Given the description of an element on the screen output the (x, y) to click on. 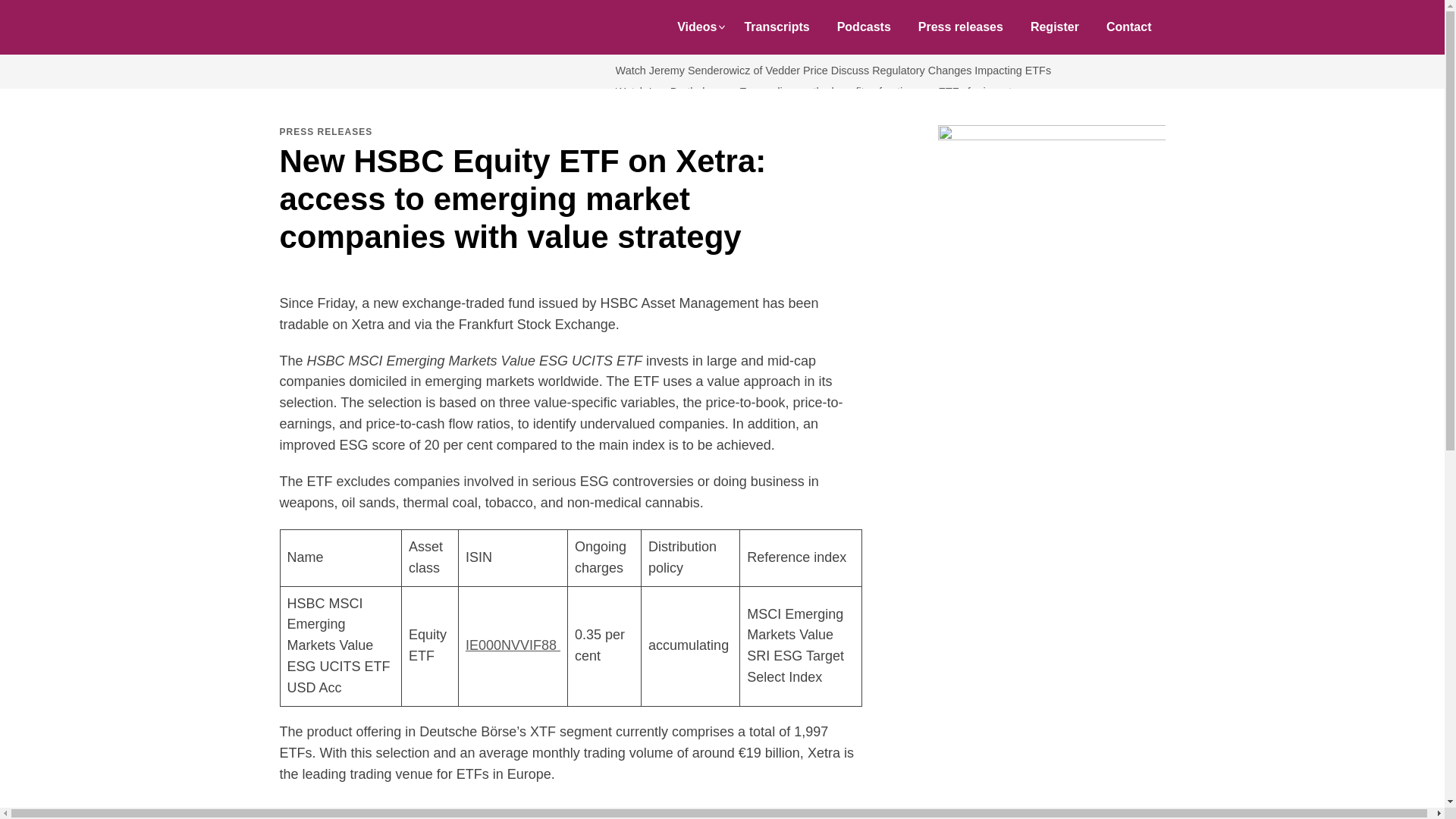
Videos (696, 27)
Register (1054, 27)
Contact (1129, 27)
PRESS RELEASES (325, 131)
Transcripts (776, 27)
IE000NVVIF88  (512, 645)
Podcasts (864, 27)
ETF TV (355, 26)
Press releases (960, 27)
